Given the description of an element on the screen output the (x, y) to click on. 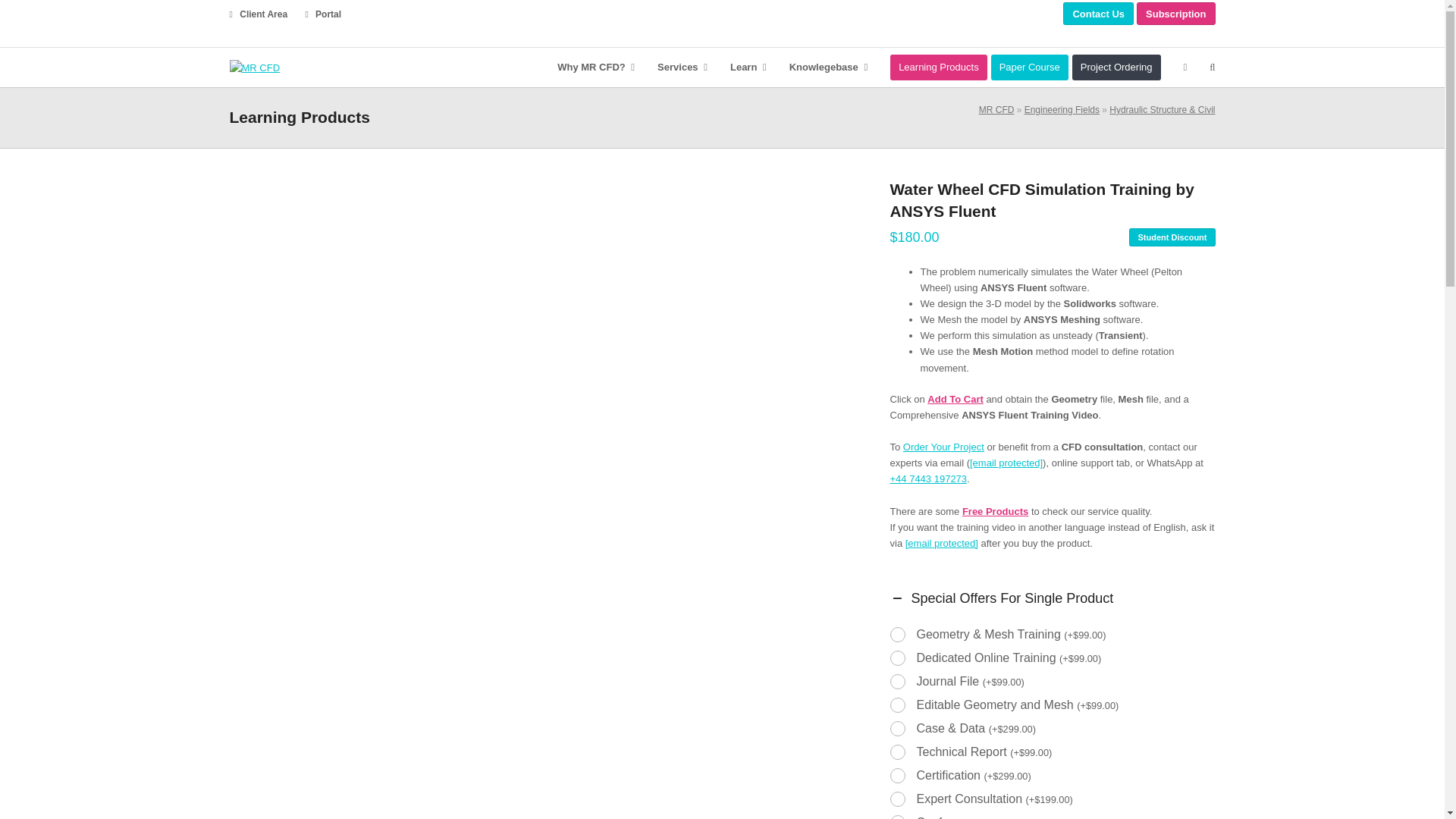
Portal (322, 14)
Contact Us (1098, 13)
Subscription (1175, 13)
Why MR CFD? (595, 66)
Services (682, 66)
Client Area (257, 14)
